Given the description of an element on the screen output the (x, y) to click on. 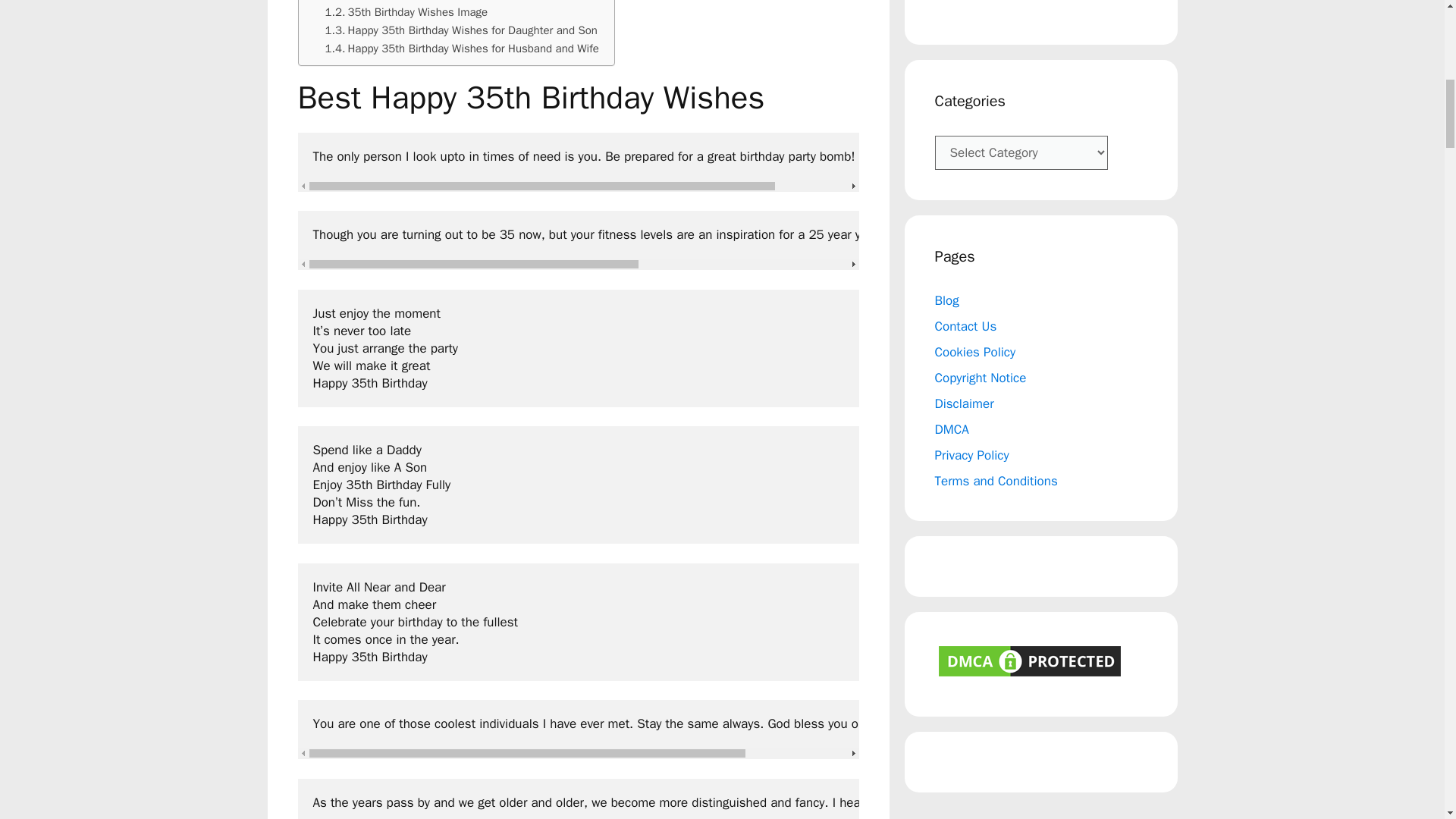
Happy 35th Birthday Wishes for Husband and Wife (461, 48)
Happy 35th Birthday Wishes for Friend (430, 1)
Happy 35th Birthday Wishes for Daughter and Son (460, 30)
35th Birthday Wishes Image (405, 12)
Advertisement (1040, 7)
